Given the description of an element on the screen output the (x, y) to click on. 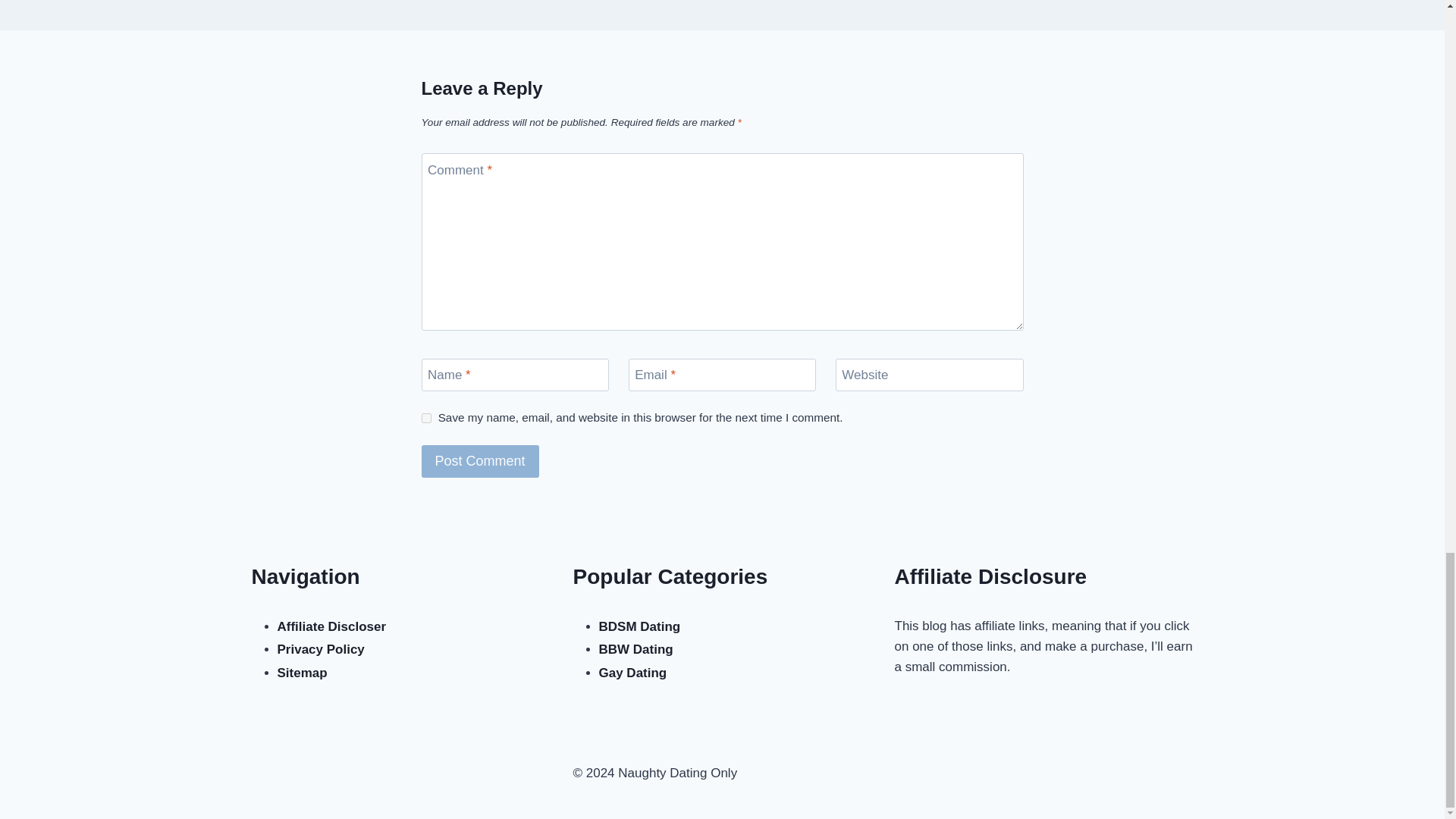
yes (426, 418)
Post Comment (480, 461)
